Given the description of an element on the screen output the (x, y) to click on. 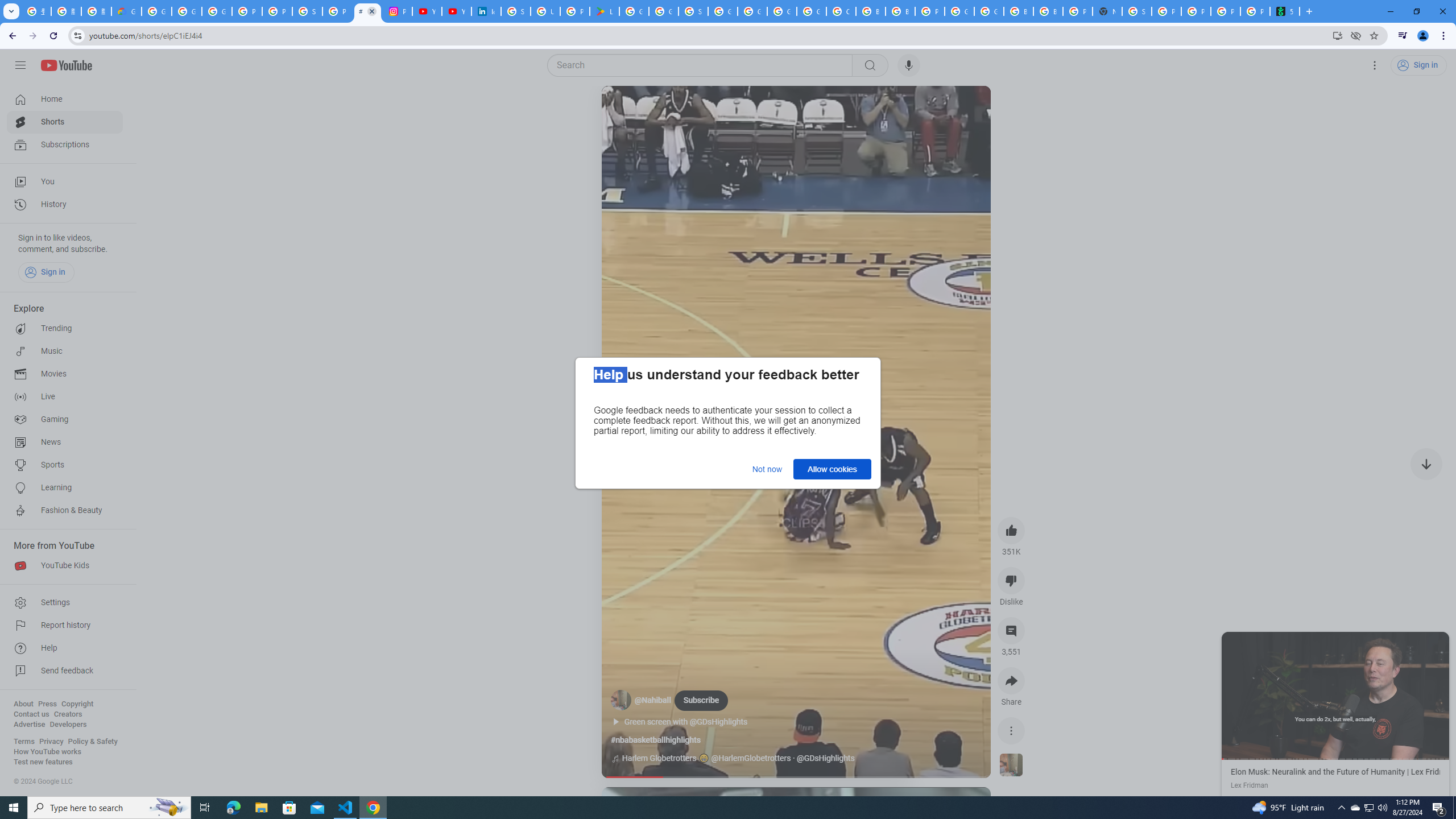
About (23, 703)
@Nahiball (653, 700)
YouTube Culture & Trends - YouTube Top 10, 2021 (456, 11)
YouTube Kids (64, 565)
Play (k) (623, 108)
Google Cloud Platform (781, 11)
Sign in - Google Accounts (515, 11)
Privacy Help Center - Policies Help (277, 11)
